Given the description of an element on the screen output the (x, y) to click on. 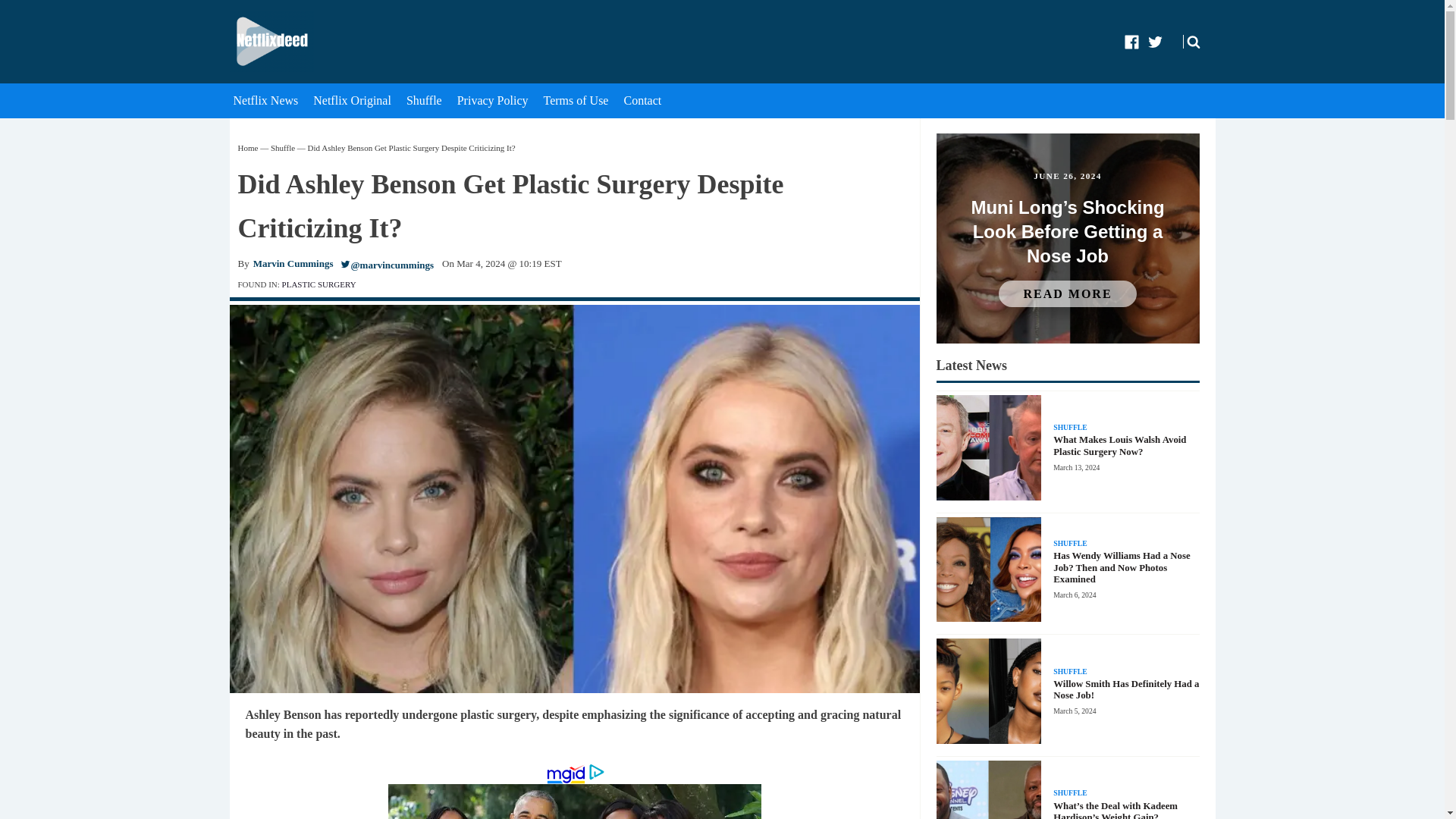
Terms of Use (576, 100)
Home (248, 147)
Netflix News (266, 100)
Shuffle (282, 147)
READ MORE (1066, 293)
Contact (644, 100)
What Makes Louis Walsh Avoid Plastic Surgery Now? (1125, 445)
Netflix Original (353, 100)
SHUFFLE (1069, 671)
PLASTIC SURGERY (319, 284)
